Given the description of an element on the screen output the (x, y) to click on. 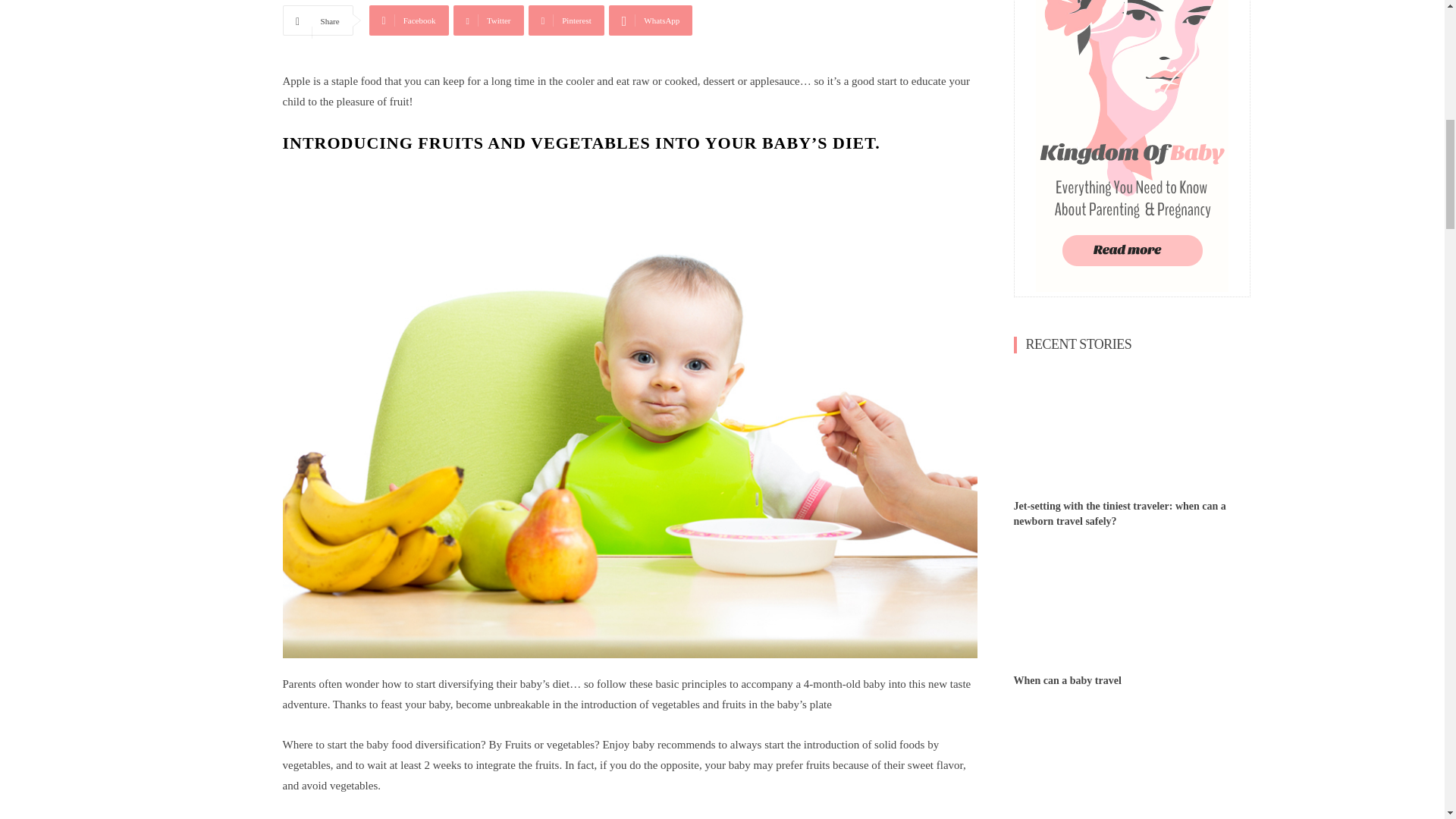
WhatsApp (650, 20)
Twitter (488, 20)
Pinterest (565, 20)
Facebook (408, 20)
